Given the description of an element on the screen output the (x, y) to click on. 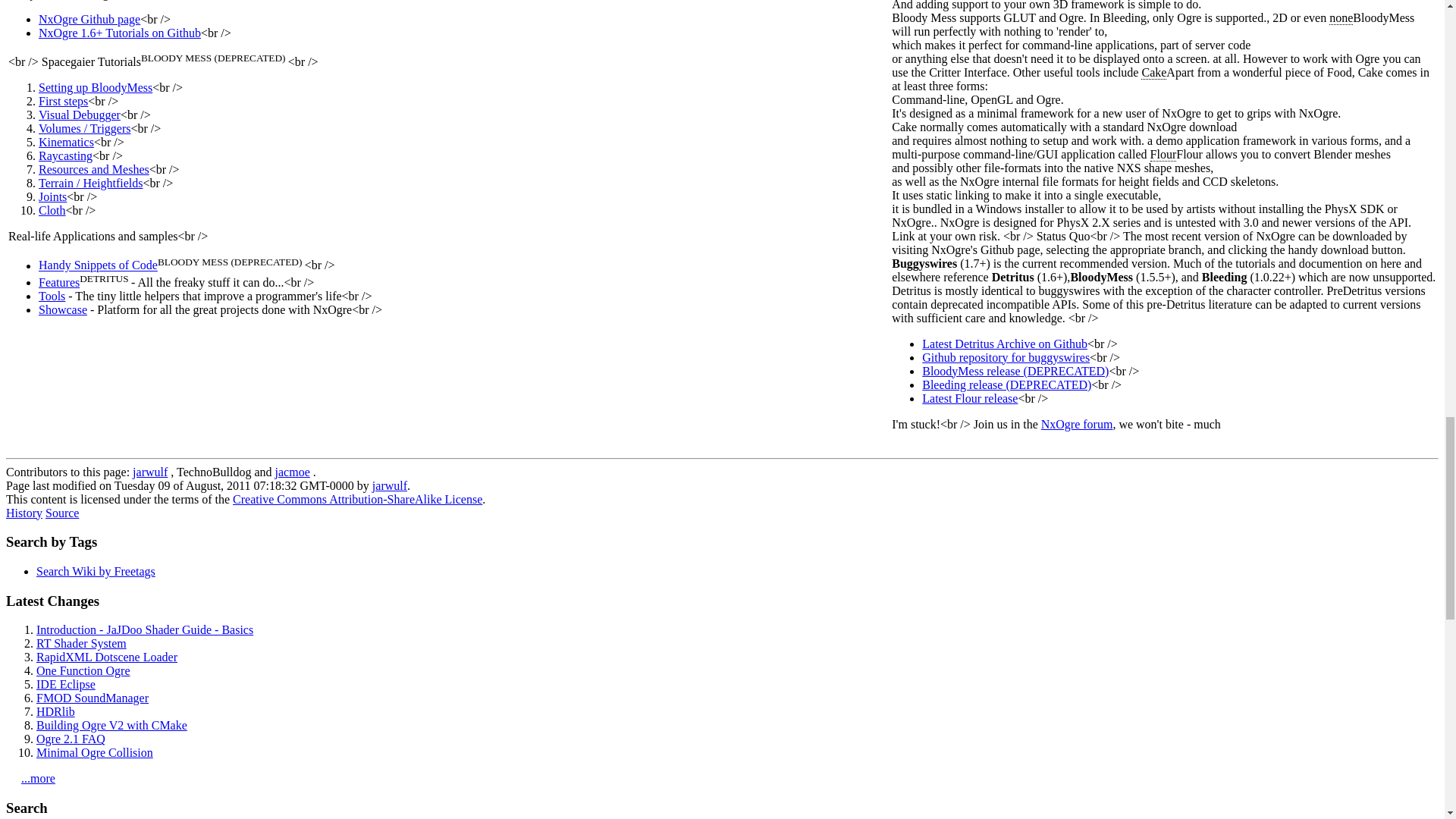
BloodyMess Tutorial 1 (95, 87)
BloodyMess Tutorial 3 (79, 114)
BloodyMess Tutorial 2 (63, 101)
